Given the description of an element on the screen output the (x, y) to click on. 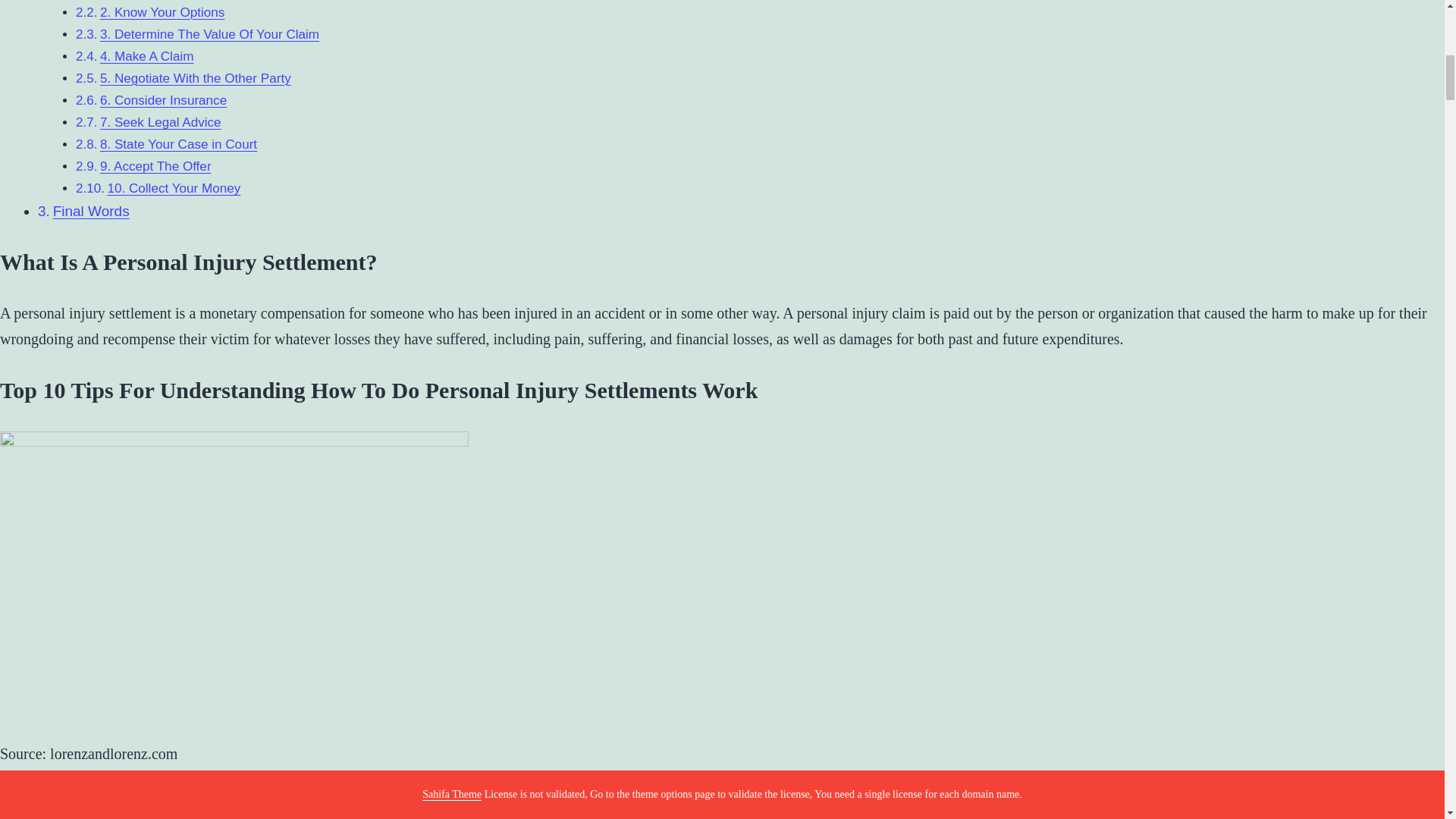
2. Know Your Options (162, 11)
6. Consider Insurance (163, 100)
4. Make A Claim (146, 56)
5. Negotiate With the Other Party (195, 78)
8. State Your Case in Court (178, 144)
7. Seek Legal Advice (160, 122)
9. Accept The Offer (155, 165)
8. State Your Case in Court (178, 144)
Final Words (90, 211)
5. Negotiate With the Other Party (195, 78)
